Given the description of an element on the screen output the (x, y) to click on. 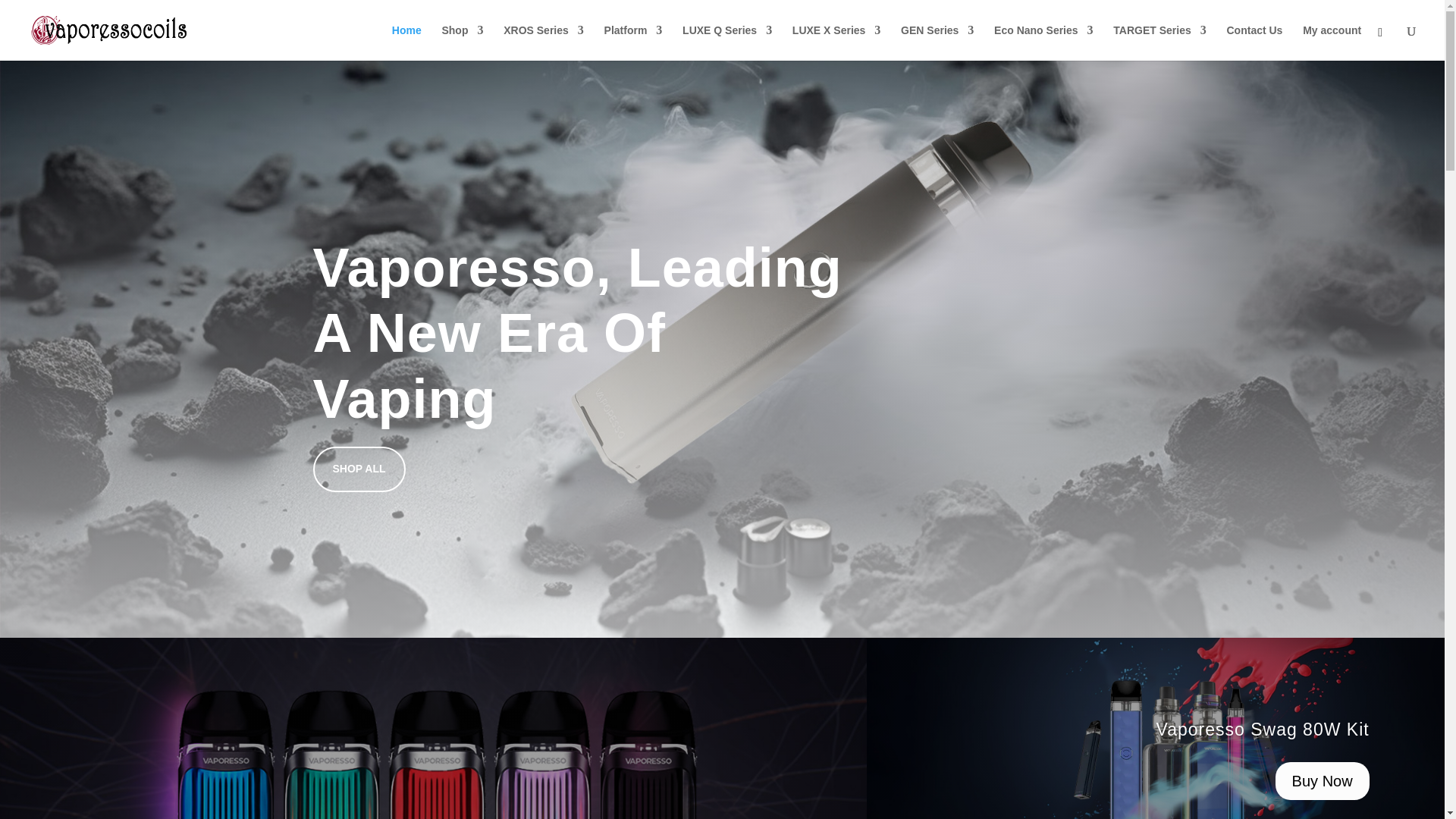
XROS Series (543, 42)
Shop (462, 42)
Platform (633, 42)
Eco Nano Series (1043, 42)
LUXE X Series (836, 42)
LUXE Q Series (726, 42)
GEN Series (937, 42)
TARGET Series (1159, 42)
